Given the description of an element on the screen output the (x, y) to click on. 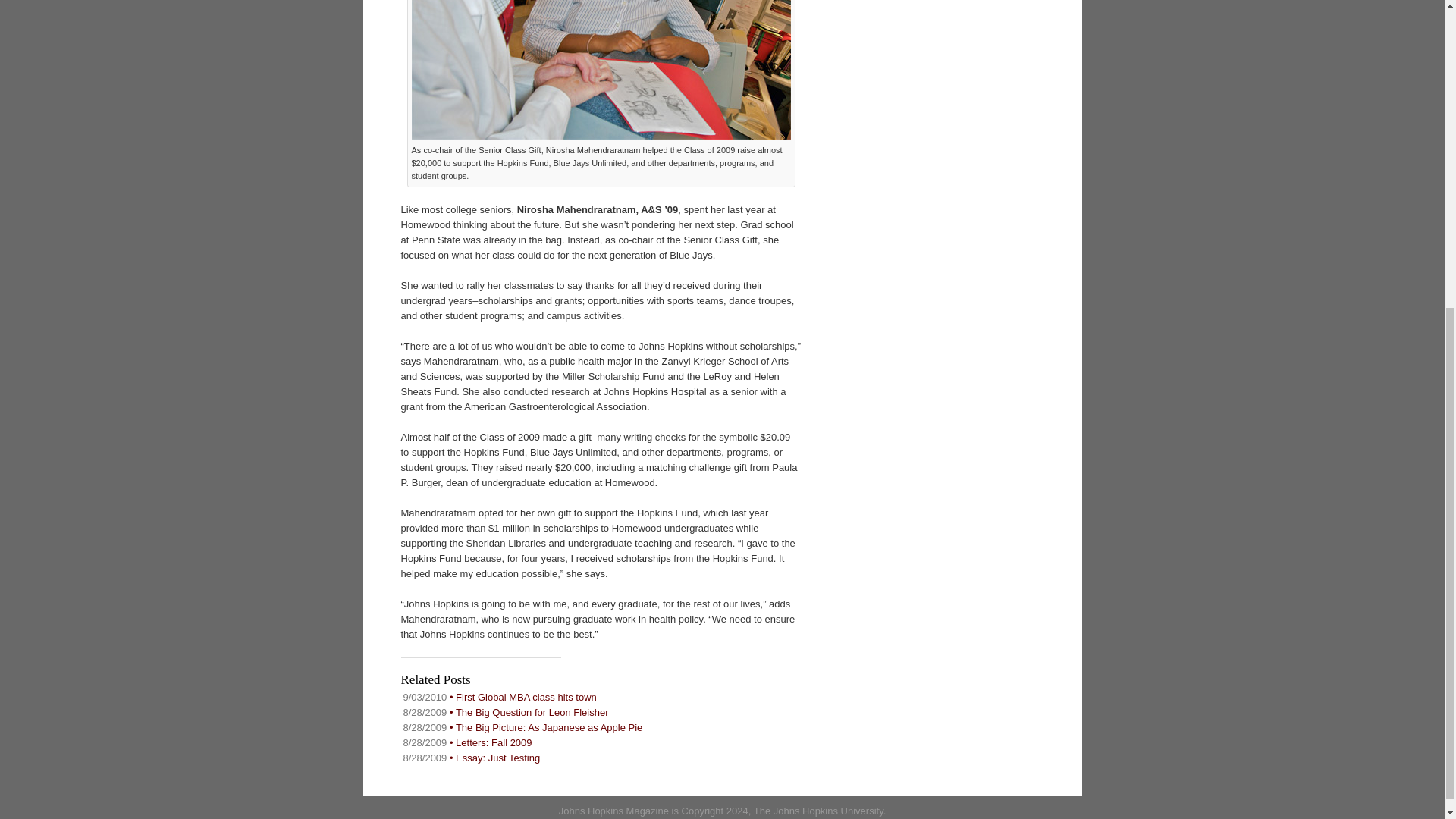
Permanent Link to The Big Picture: As Japanese as Apple Pie (523, 727)
Permanent Link to Essay: Just Testing (471, 757)
Permanent Link to Letters: Fall 2009 (467, 742)
mahendraratnam (600, 69)
Permanent Link to First Global MBA class hits town (499, 696)
Permanent Link to The Big Question for Leon Fleisher (505, 712)
